Given the description of an element on the screen output the (x, y) to click on. 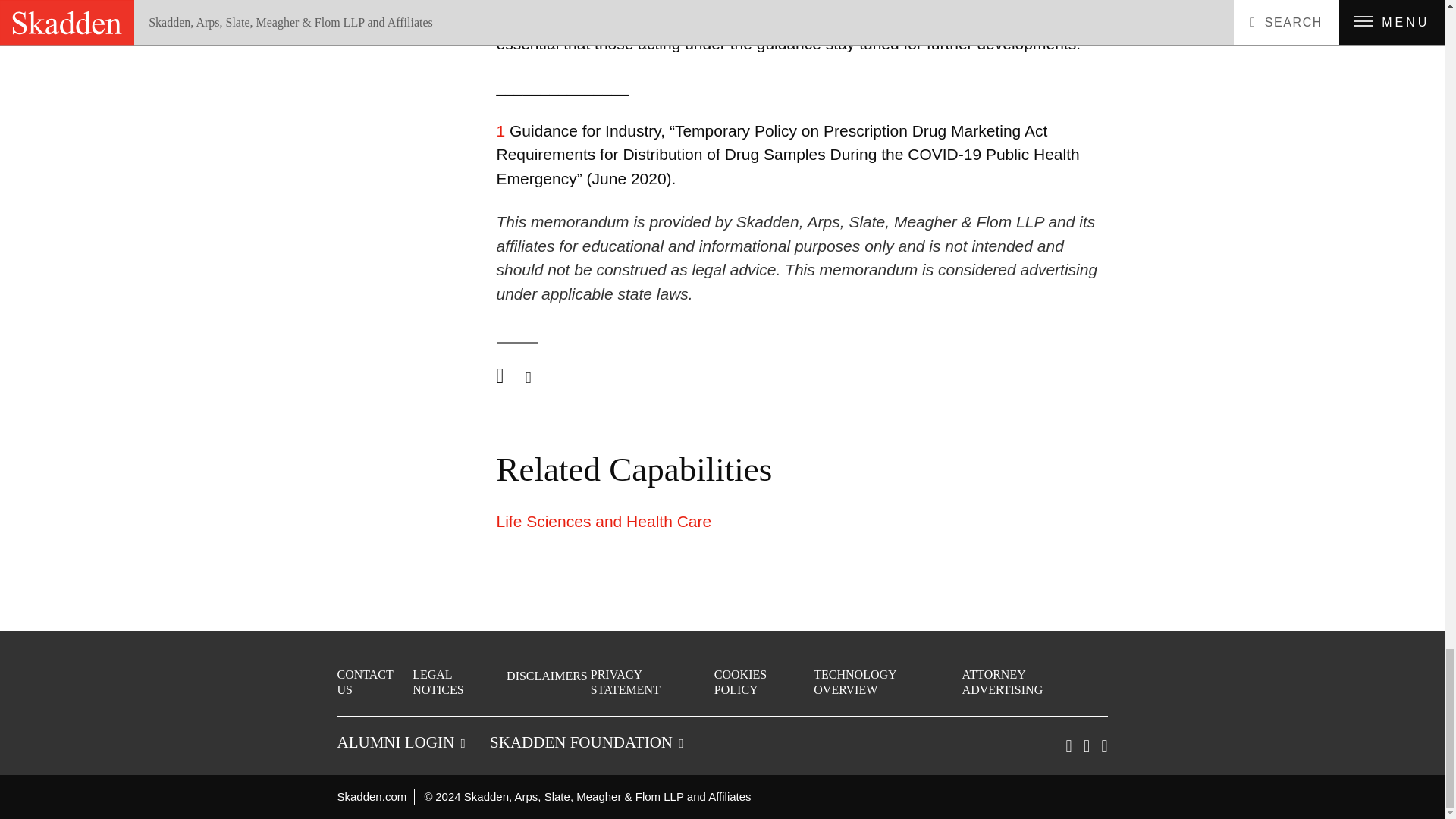
LEGAL NOTICES (457, 681)
ALUMNI LOGIN (400, 742)
COOKIES POLICY (762, 681)
Navigate to Skadden Foundation section (585, 742)
PRIVACY STATEMENT (651, 681)
ATTORNEY ADVERTISING (1033, 681)
Navigate to Alumni Login section (400, 742)
SKADDEN FOUNDATION (585, 742)
TECHNOLOGY OVERVIEW (885, 681)
DISCLAIMERS (547, 676)
